Given the description of an element on the screen output the (x, y) to click on. 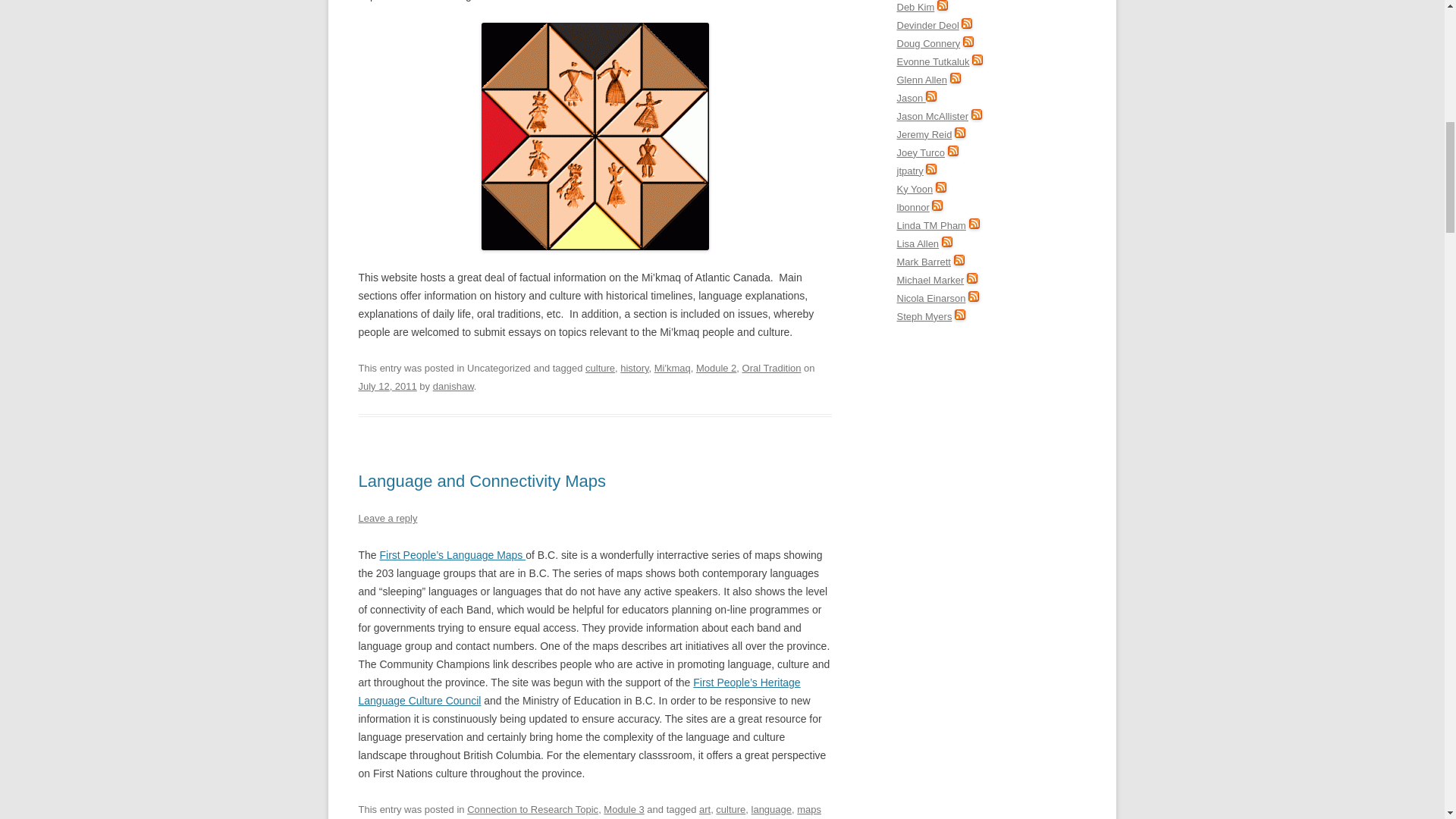
July 12, 2011 (387, 386)
danishaw (453, 386)
culture (599, 367)
View all posts by danishaw (453, 386)
Language and Connectivity Maps (481, 480)
Connection to Research Topic (532, 808)
Mi'kmaq (671, 367)
history (633, 367)
Module 3 (623, 808)
Oral Tradition (772, 367)
Module 2 (715, 367)
8:24 am (387, 386)
Leave a reply (387, 518)
culture (730, 808)
language (771, 808)
